Given the description of an element on the screen output the (x, y) to click on. 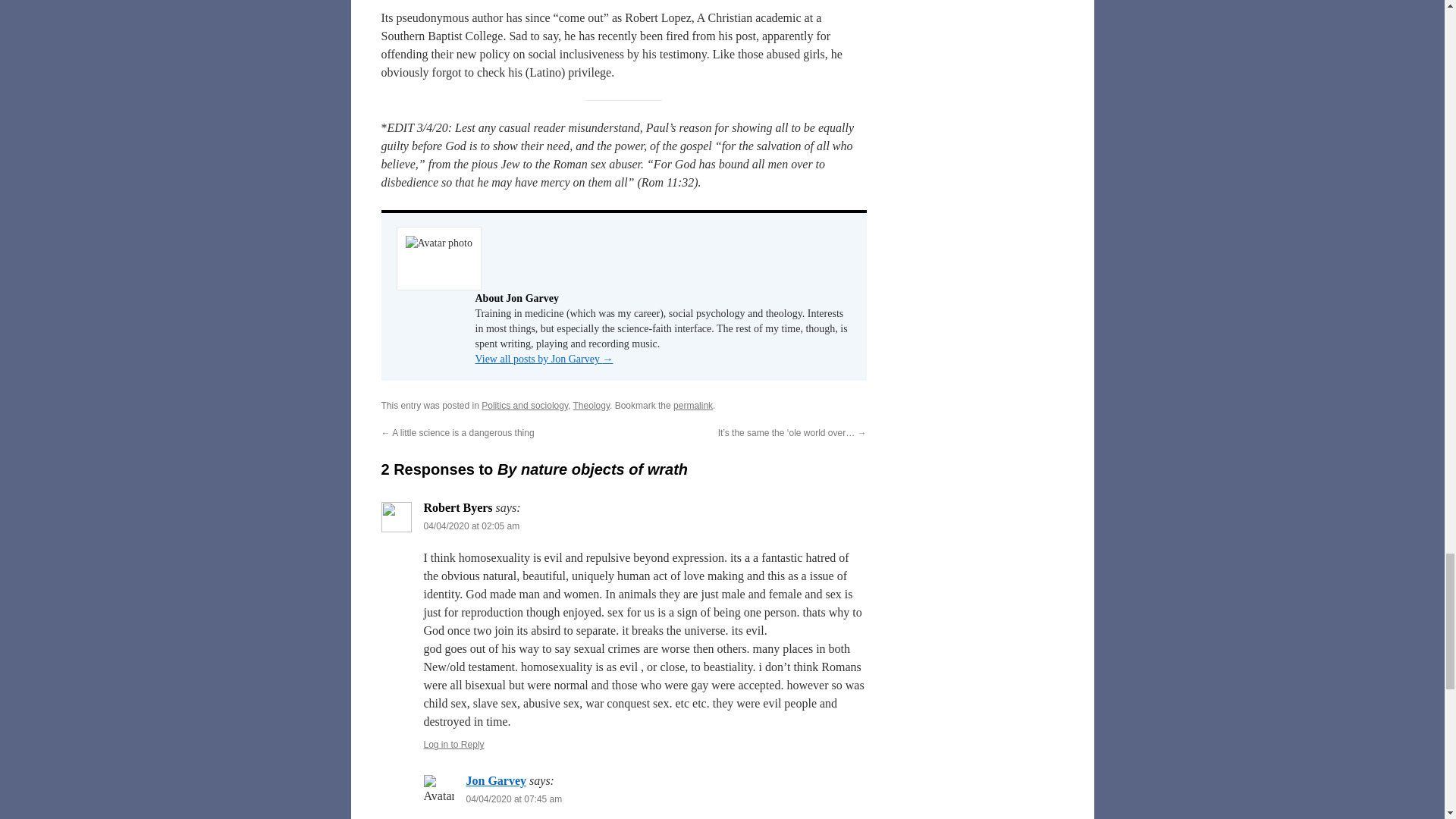
Jon Garvey (495, 780)
Politics and sociology (524, 405)
Theology (591, 405)
permalink (692, 405)
Log in to Reply (453, 744)
Permalink to By nature objects of wrath (692, 405)
